Given the description of an element on the screen output the (x, y) to click on. 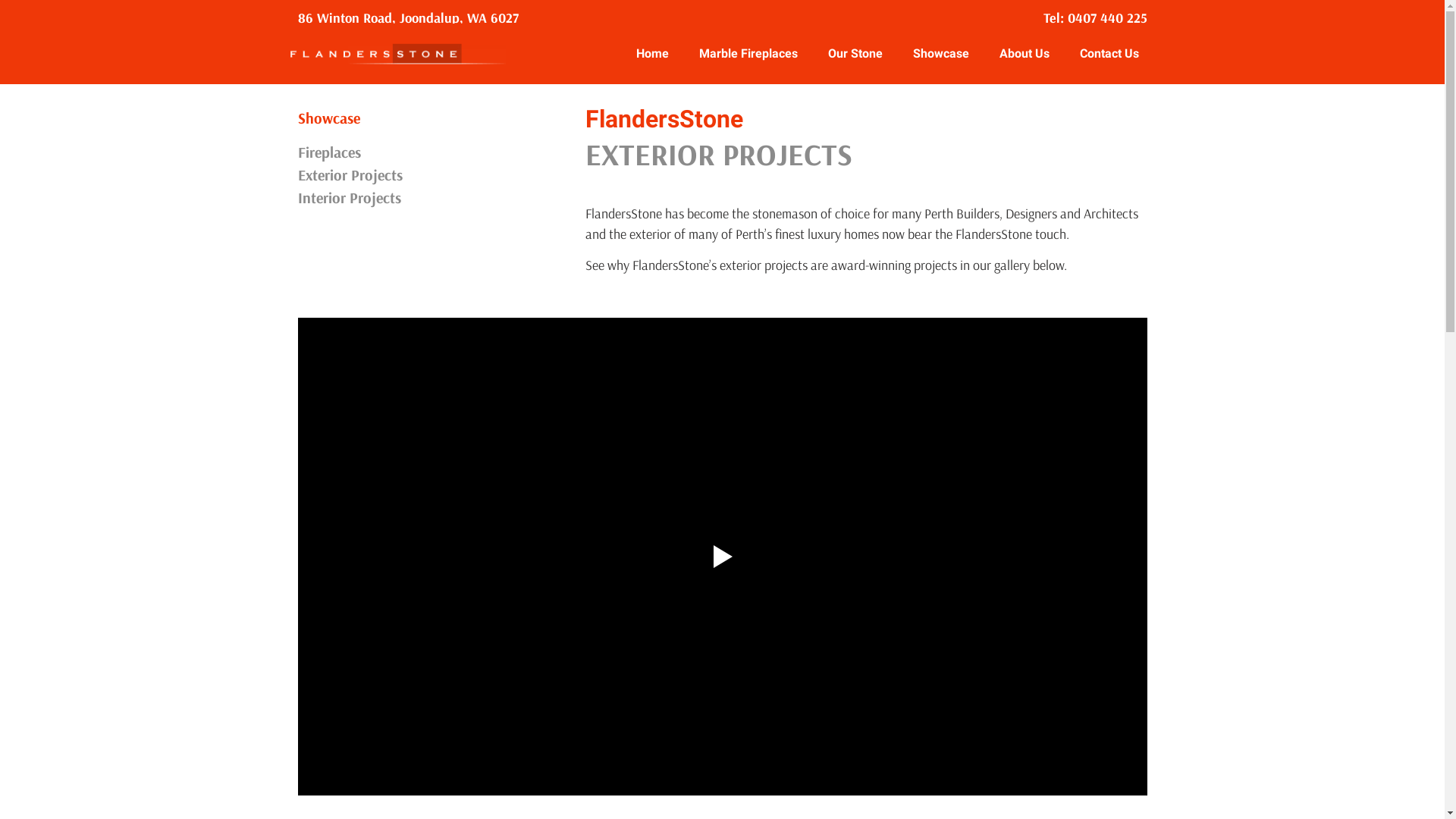
About Us Element type: text (1024, 53)
Home Element type: text (652, 53)
Interior Projects Element type: text (433, 197)
Showcase Element type: text (940, 53)
Contact Us Element type: text (1109, 53)
Fireplaces Element type: text (433, 152)
Our Stone Element type: text (854, 53)
Exterior Projects Element type: text (433, 174)
Marble Fireplaces Element type: text (748, 53)
